Given the description of an element on the screen output the (x, y) to click on. 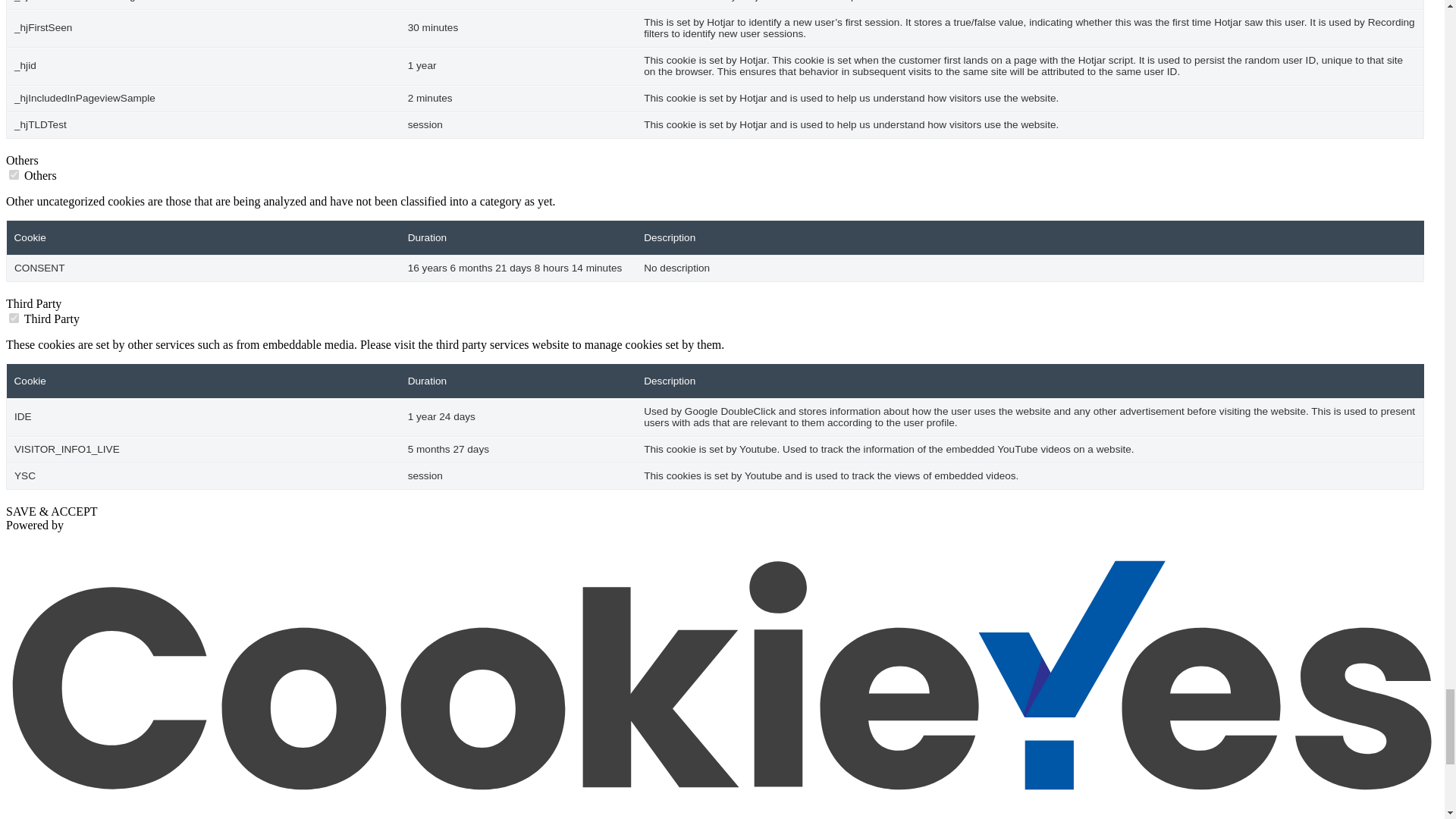
on (13, 174)
on (13, 317)
